Given the description of an element on the screen output the (x, y) to click on. 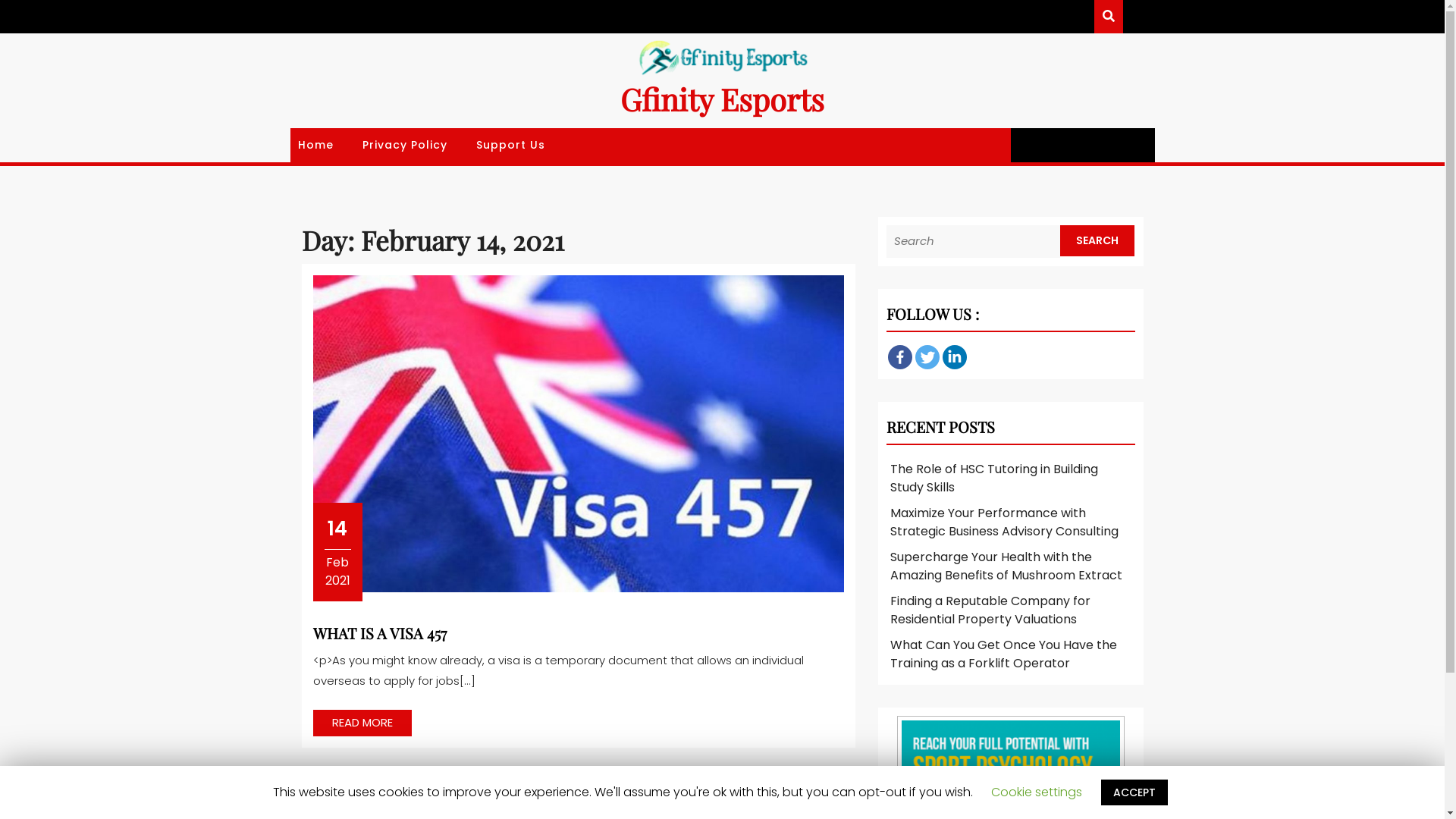
Privacy Policy Element type: text (410, 145)
ACCEPT Element type: text (1134, 792)
Twitter Element type: hover (926, 357)
Support Us Element type: text (516, 145)
Home Element type: text (320, 145)
WHAT IS A VISA 457 Element type: text (378, 632)
Cookie settings Element type: text (1036, 791)
The Role of HSC Tutoring in Building Study Skills Element type: text (994, 477)
Gfinity Esports Element type: text (722, 98)
Search Element type: text (64, 510)
Search Element type: text (1097, 240)
14
Feb
2021 Element type: text (337, 551)
Linkedin Element type: hover (953, 357)
Facebook Element type: hover (899, 357)
READ MORE Element type: text (361, 722)
